Given the description of an element on the screen output the (x, y) to click on. 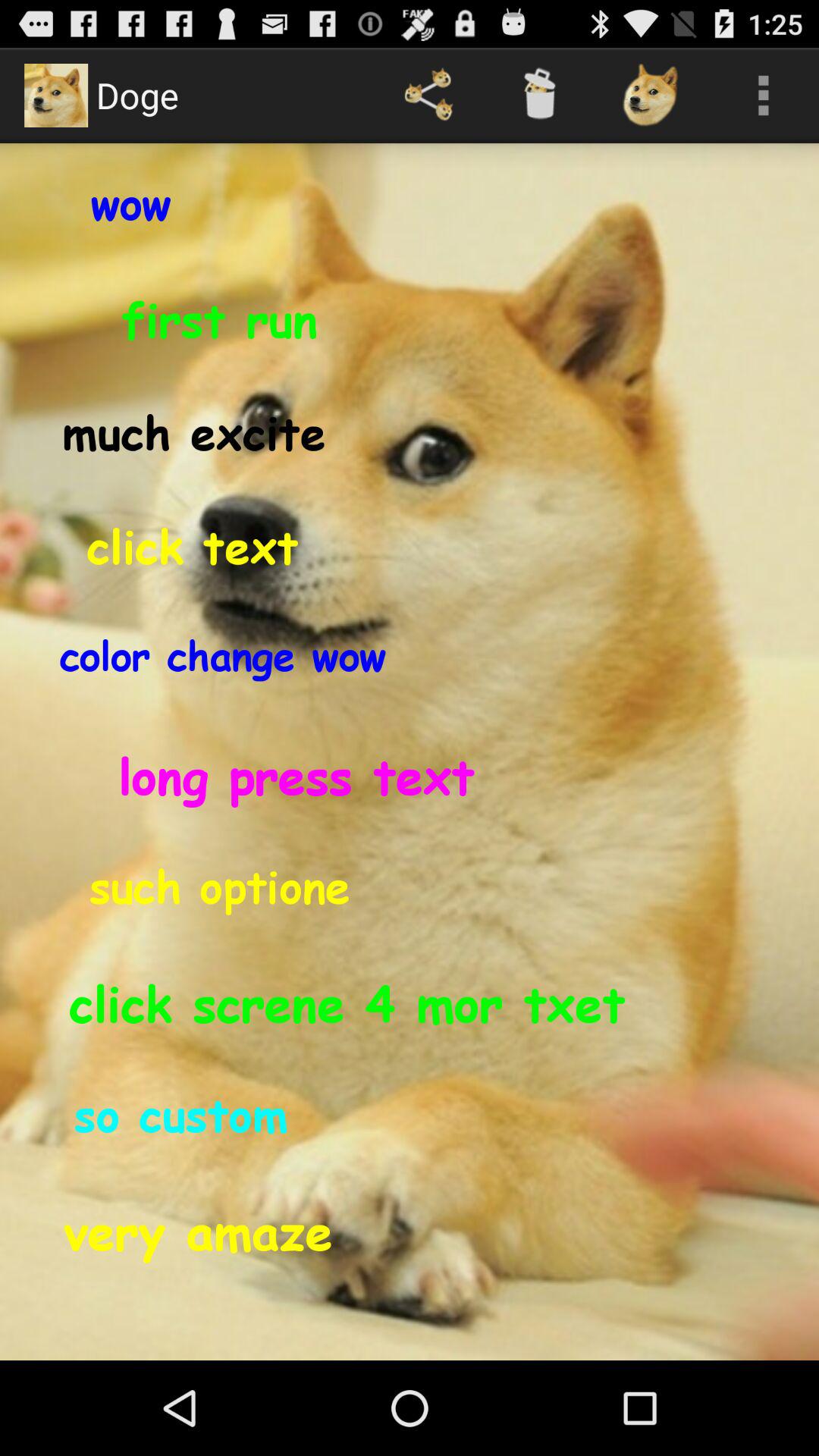
turn on item to the right of the doge item (428, 95)
